Given the description of an element on the screen output the (x, y) to click on. 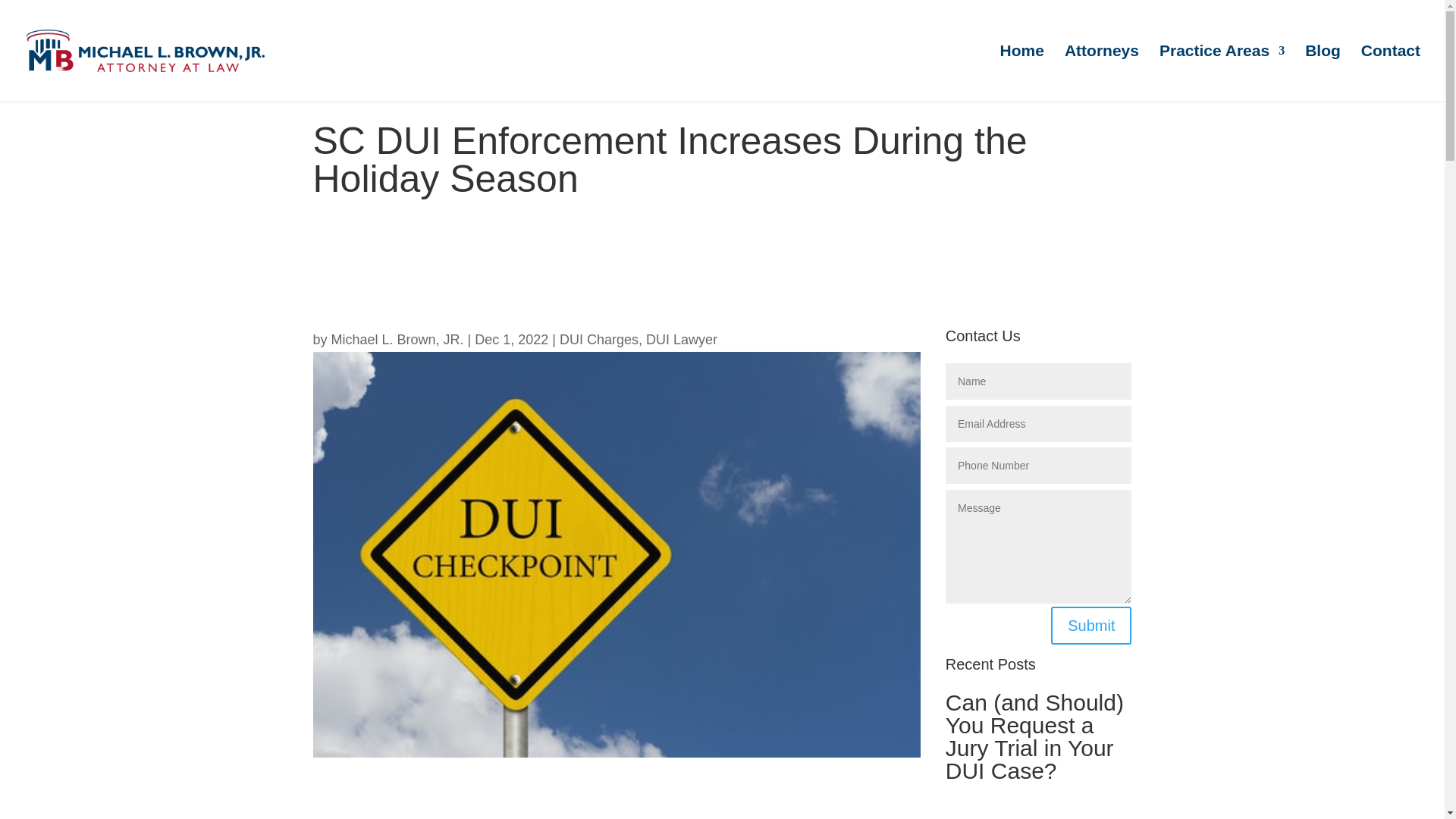
Practice Areas (1221, 73)
Posts by Michael L. Brown, JR. (397, 339)
DUI Lawyer (681, 339)
Michael L. Brown, JR. (397, 339)
DUI Charges (599, 339)
Submit (1091, 625)
Attorneys (1101, 73)
Contact (1391, 73)
